Given the description of an element on the screen output the (x, y) to click on. 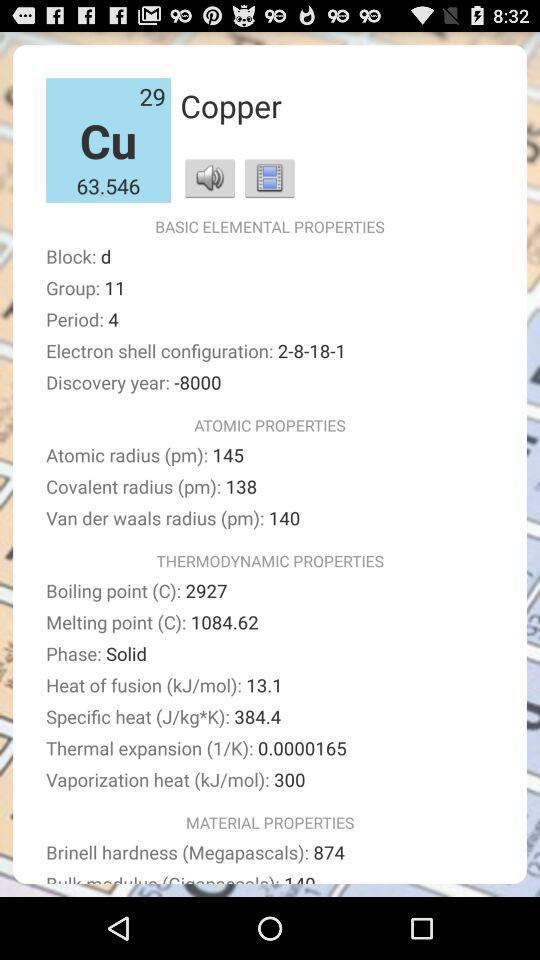
sound icon (210, 177)
